Given the description of an element on the screen output the (x, y) to click on. 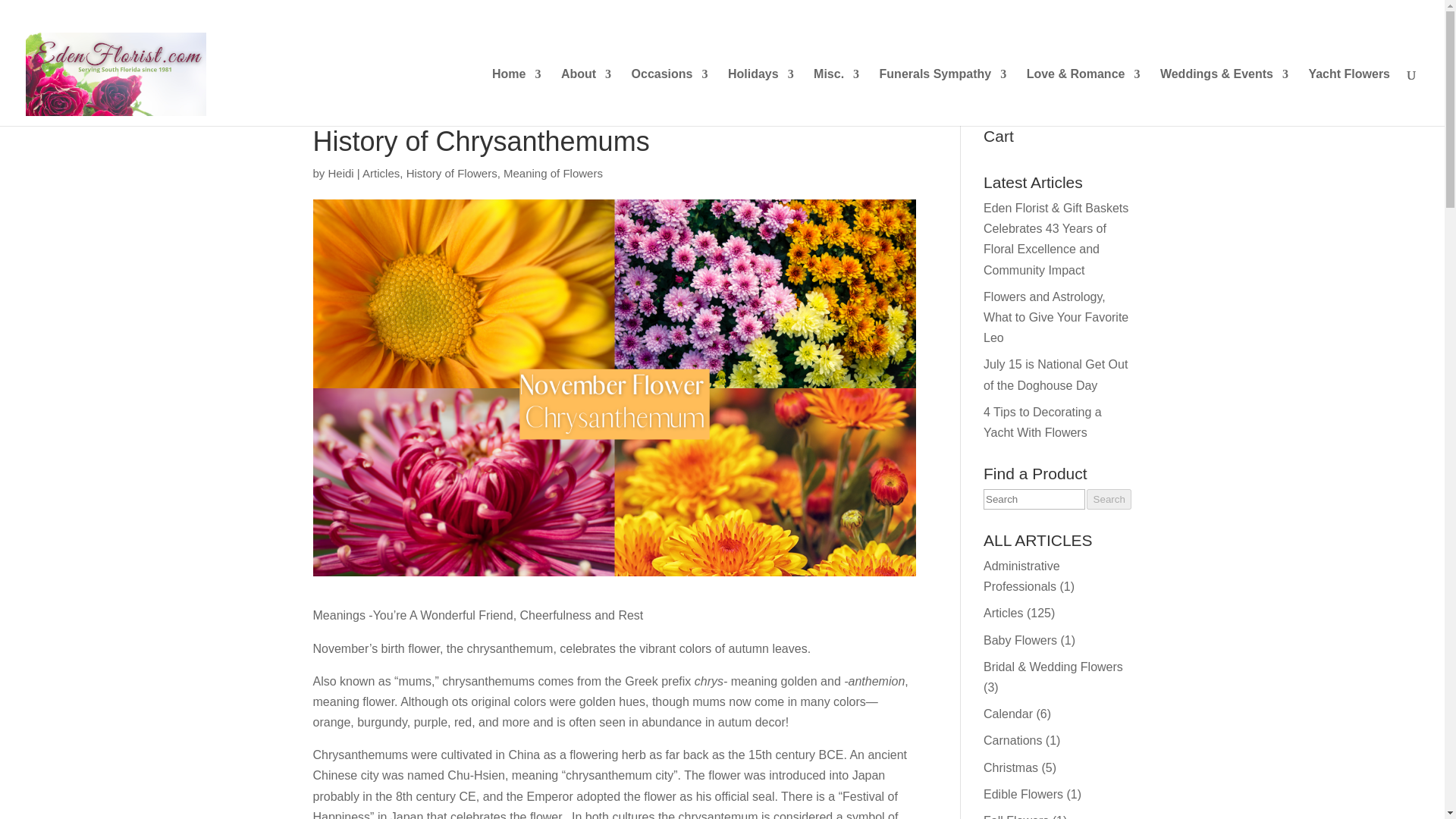
MY ACCOUNT (1155, 19)
0 Items (1393, 14)
CART (1082, 19)
Occasions (669, 97)
CONTACT (1324, 19)
CHECKOUT (1245, 19)
SHOP (1034, 19)
ARTICLES (972, 19)
Posts by Heidi (341, 173)
Holidays (760, 97)
